Given the description of an element on the screen output the (x, y) to click on. 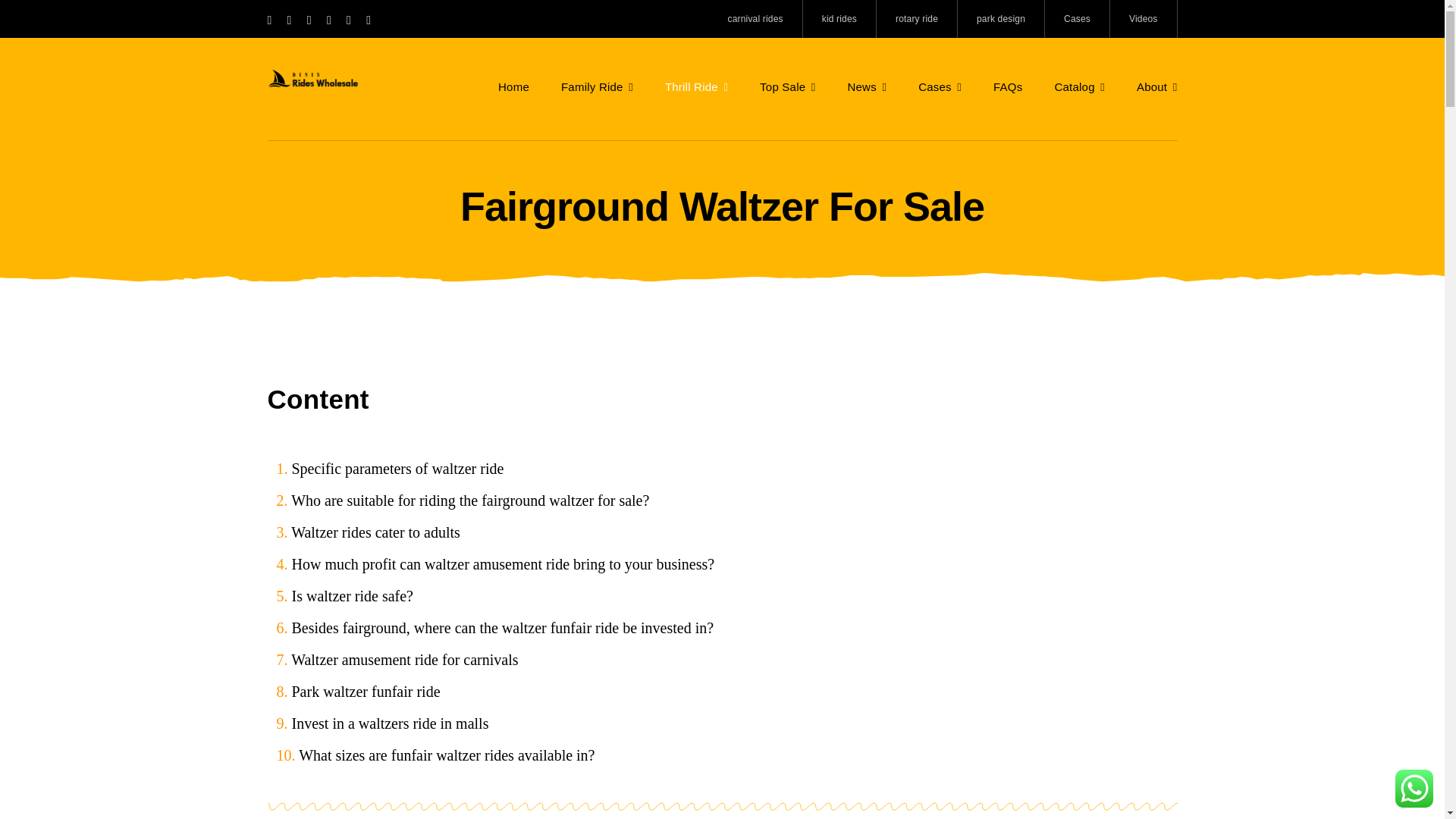
rotary ride (917, 18)
Thrill Ride (696, 86)
kid rides (839, 18)
carnival rides (754, 18)
Cases (1077, 18)
Family Ride (596, 86)
park design (1001, 18)
Videos (1143, 18)
